Given the description of an element on the screen output the (x, y) to click on. 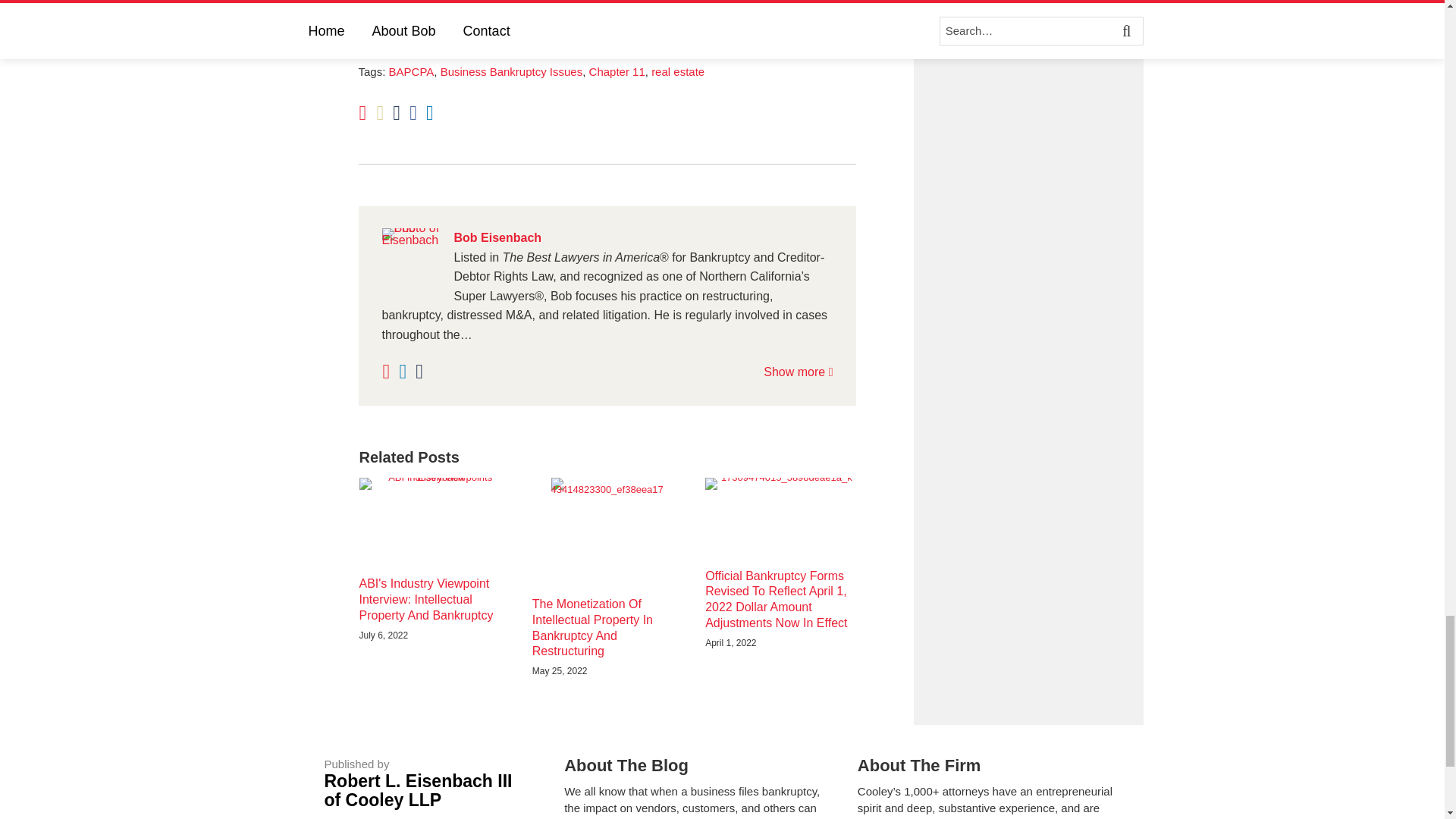
Business Bankruptcy Issues (512, 71)
Chapter 11 (617, 71)
Show more (797, 371)
BAPCPA (410, 71)
real estate (677, 71)
Bob Eisenbach (606, 238)
